Given the description of an element on the screen output the (x, y) to click on. 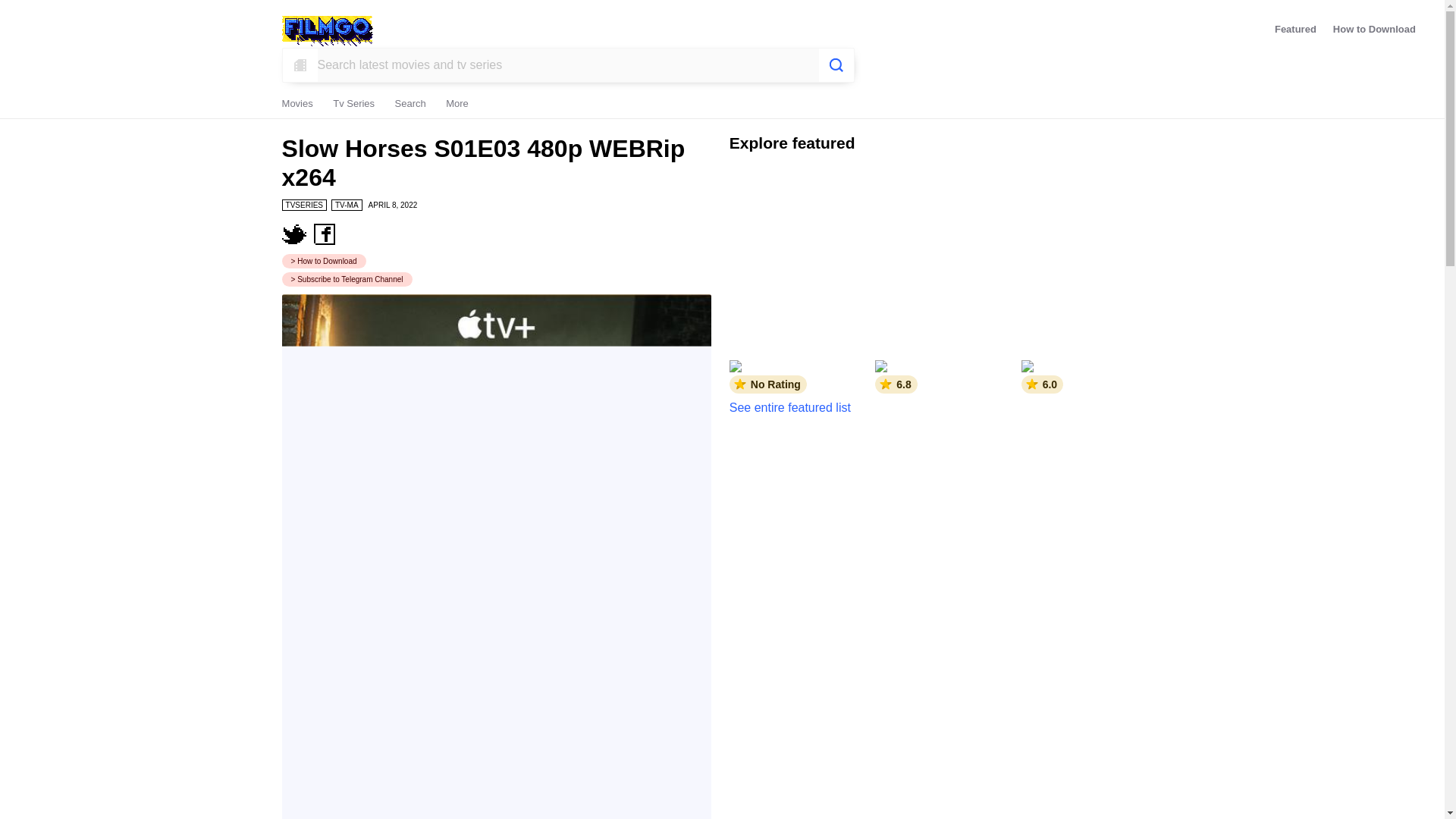
Content Rating - TV-MA (346, 204)
Share on Facebook (324, 233)
Tv Series (353, 104)
How to Download (1374, 33)
Subscribe to our Telegram Channel (347, 278)
Movies (297, 104)
Search (836, 64)
Search (410, 104)
Share on Twitter (293, 233)
How to Download (324, 260)
